Given the description of an element on the screen output the (x, y) to click on. 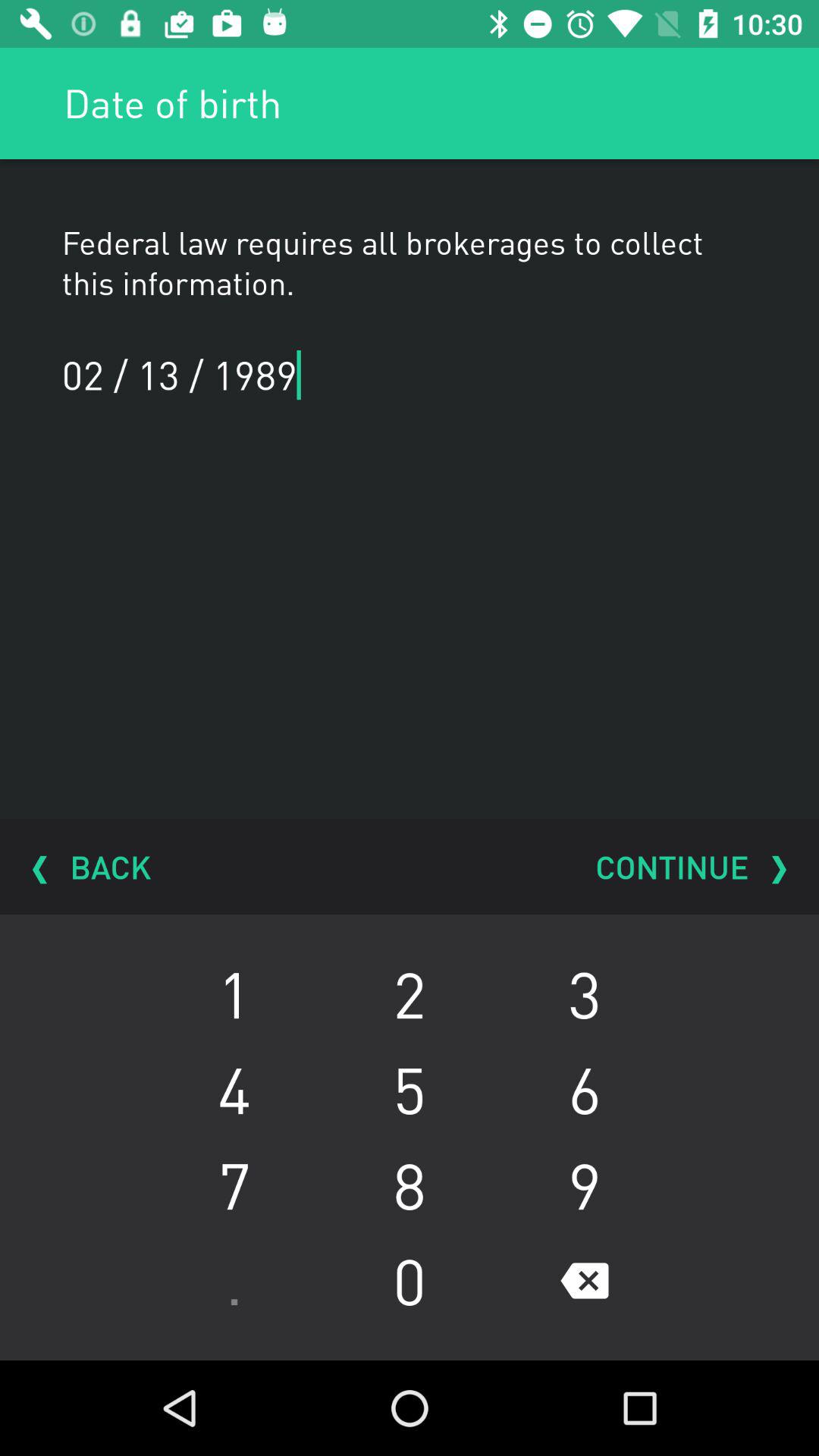
select item next to 2 icon (584, 1089)
